Given the description of an element on the screen output the (x, y) to click on. 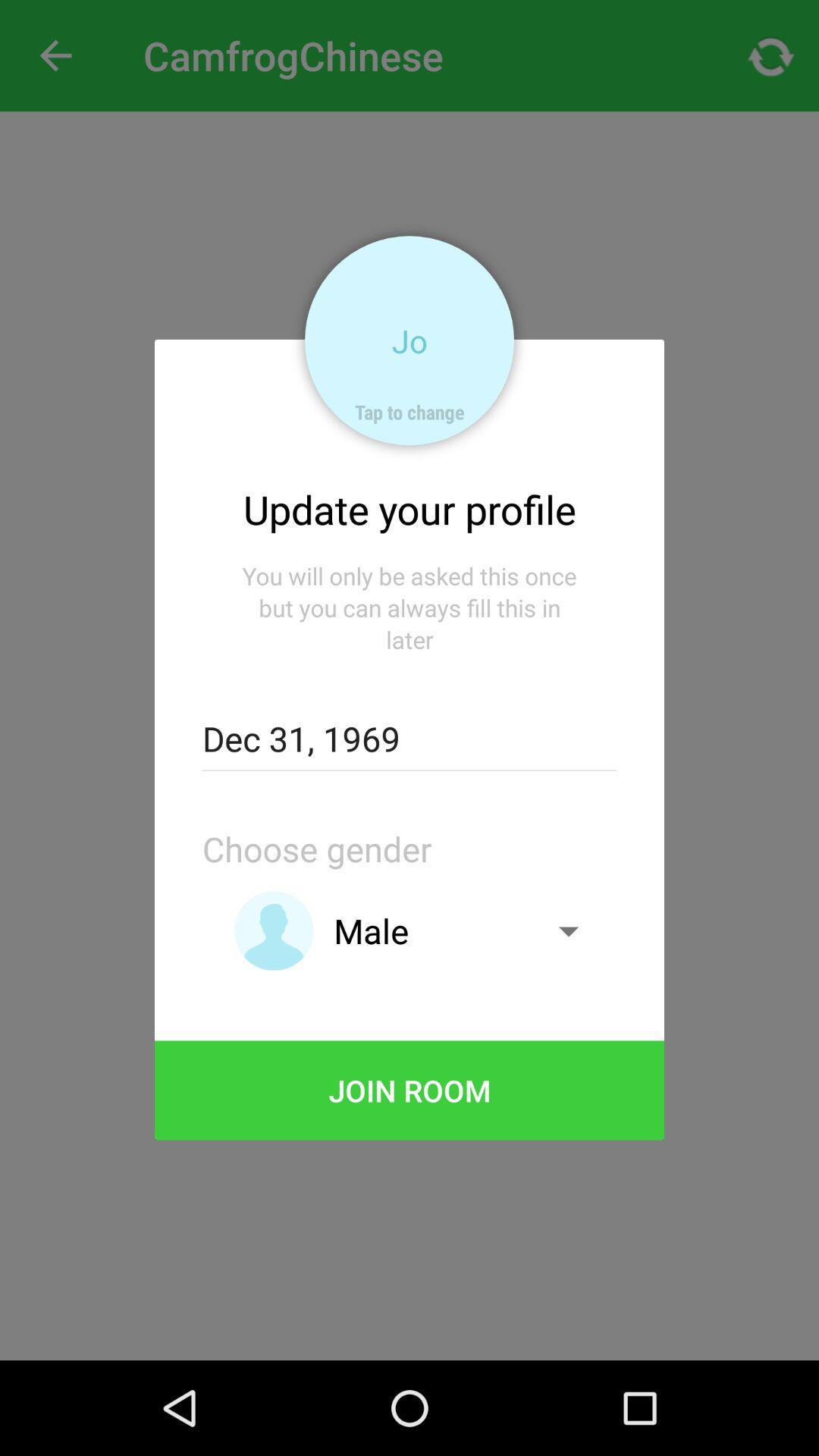
tap icon below the you will only (409, 739)
